Given the description of an element on the screen output the (x, y) to click on. 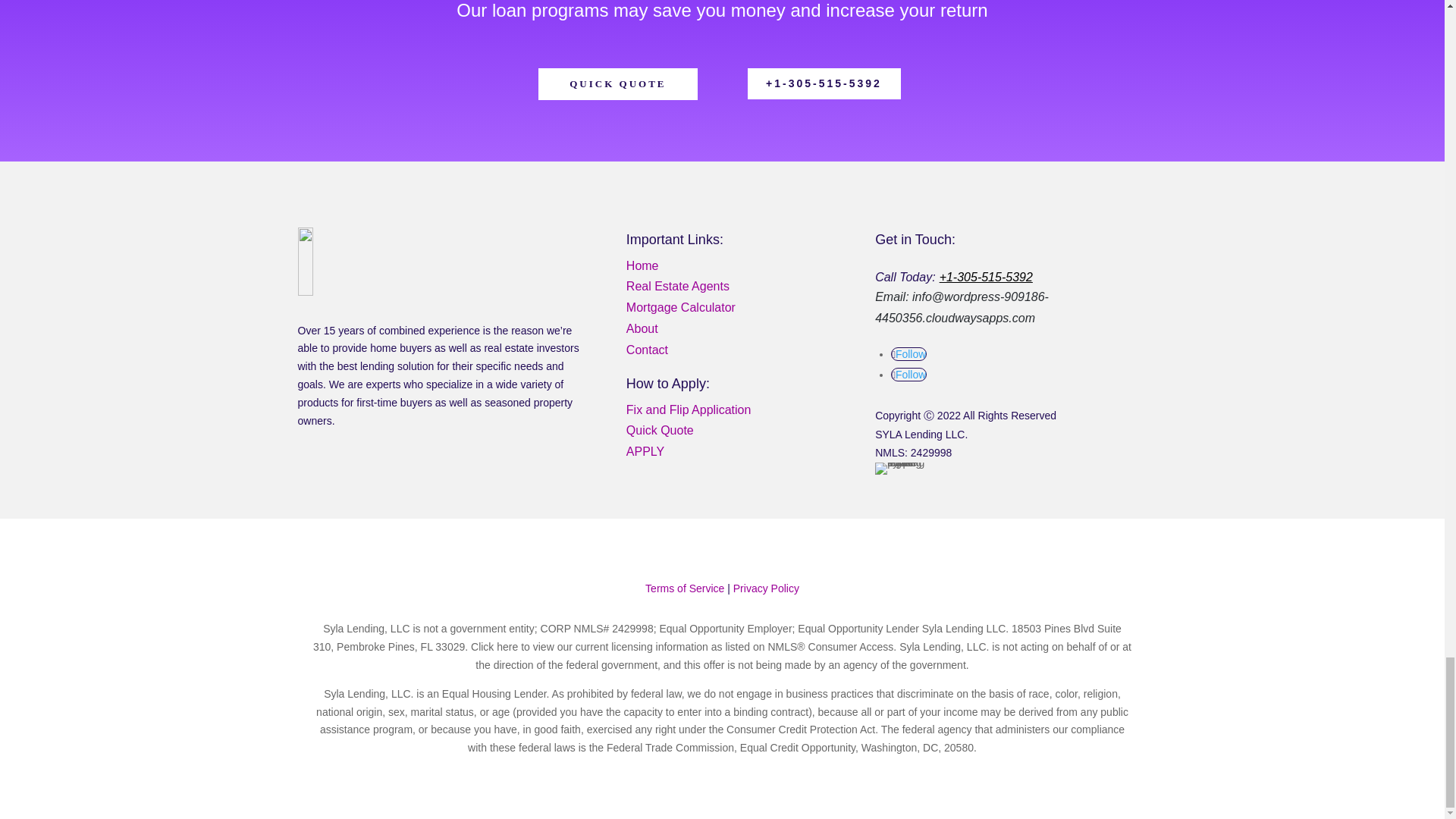
Follow on Facebook (908, 354)
syla-lending-logo-tr-rec (387, 261)
equal housing lender logo purple (901, 468)
Follow on X (908, 374)
